Given the description of an element on the screen output the (x, y) to click on. 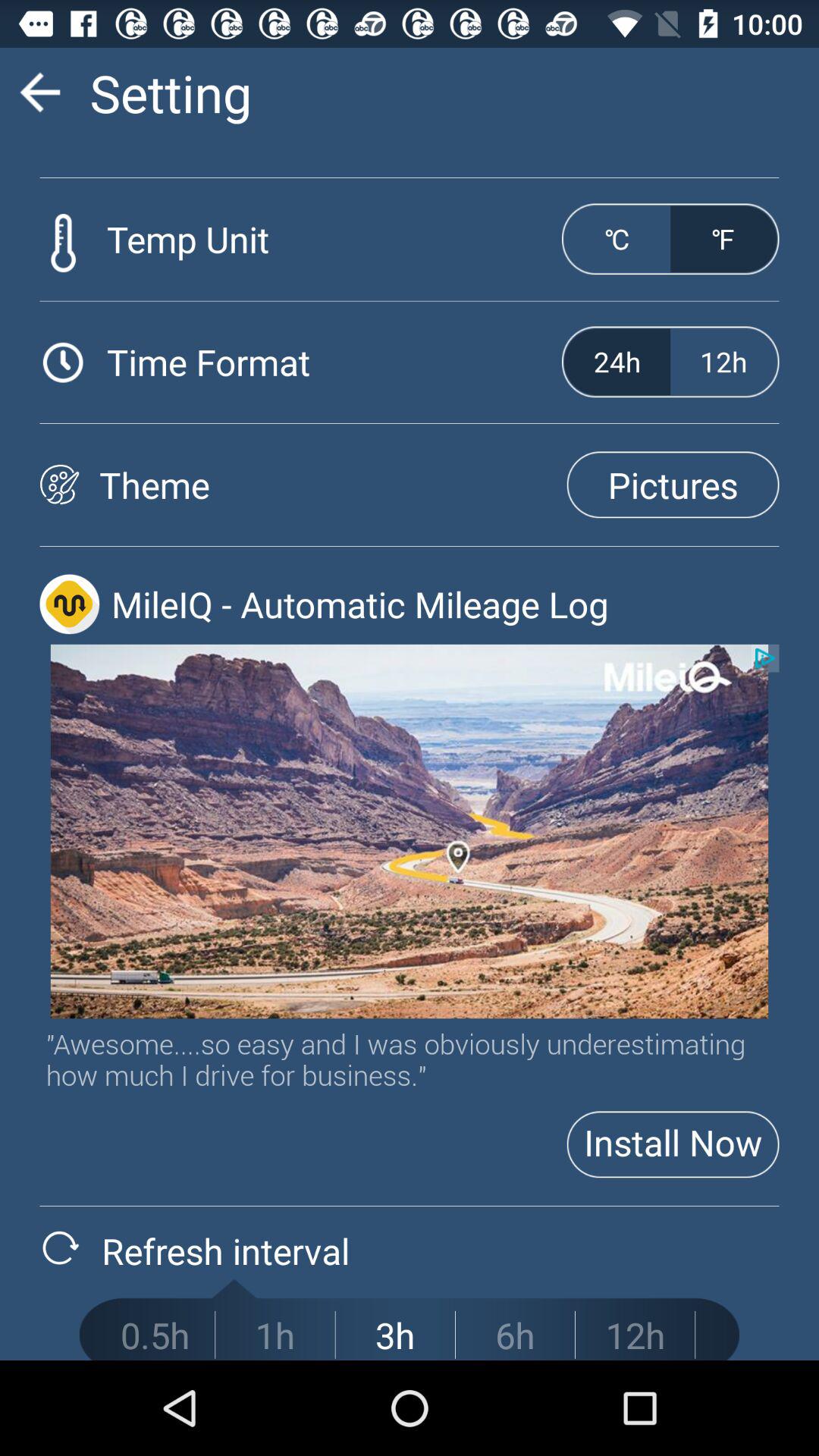
turn on icon next to 1h (395, 1334)
